Given the description of an element on the screen output the (x, y) to click on. 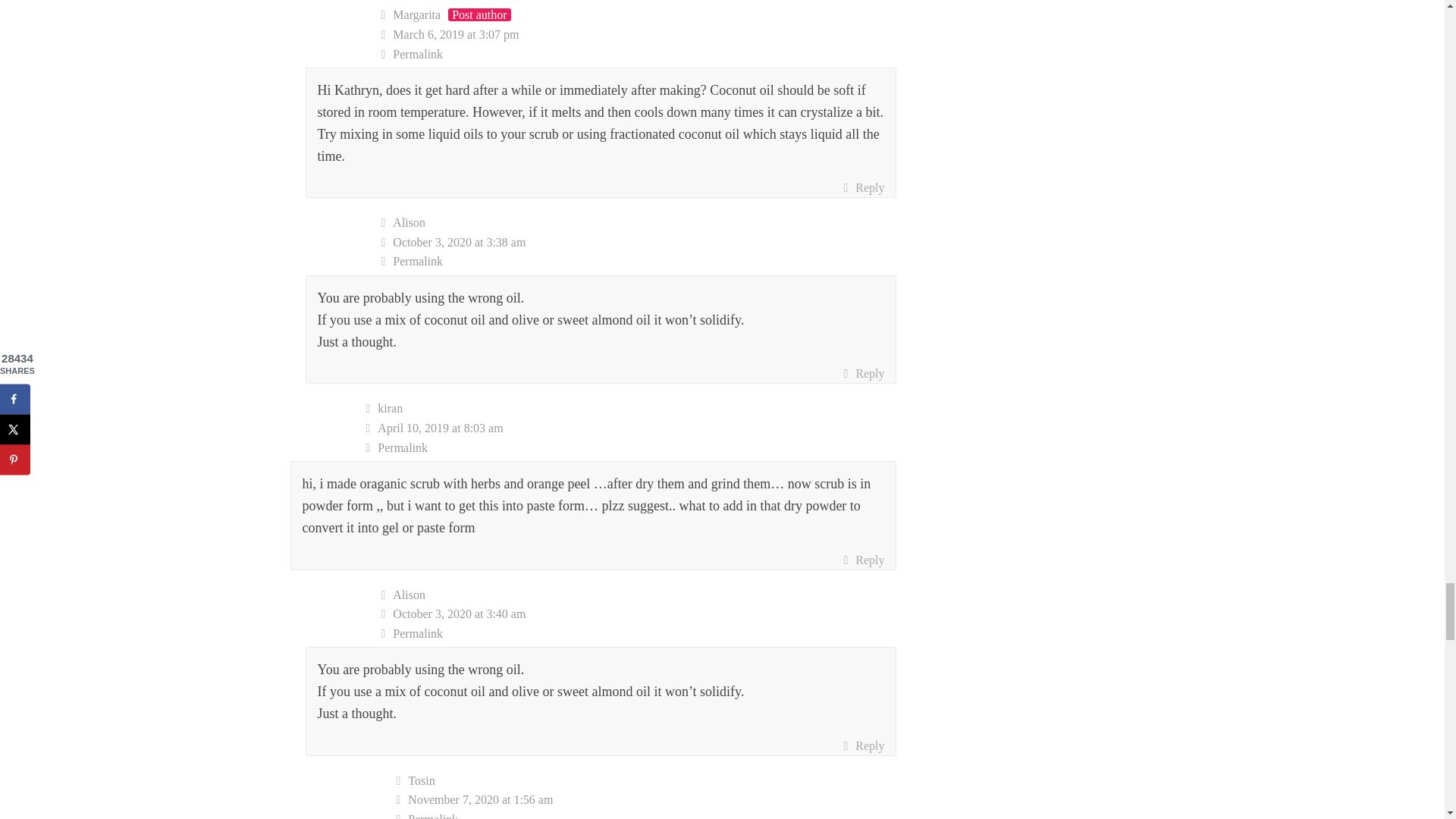
Reply (863, 373)
Permalink (638, 54)
Permalink (646, 814)
Permalink (638, 633)
Reply (863, 188)
Reply (863, 560)
Reply (863, 745)
Permalink (638, 261)
Permalink (630, 447)
